Given the description of an element on the screen output the (x, y) to click on. 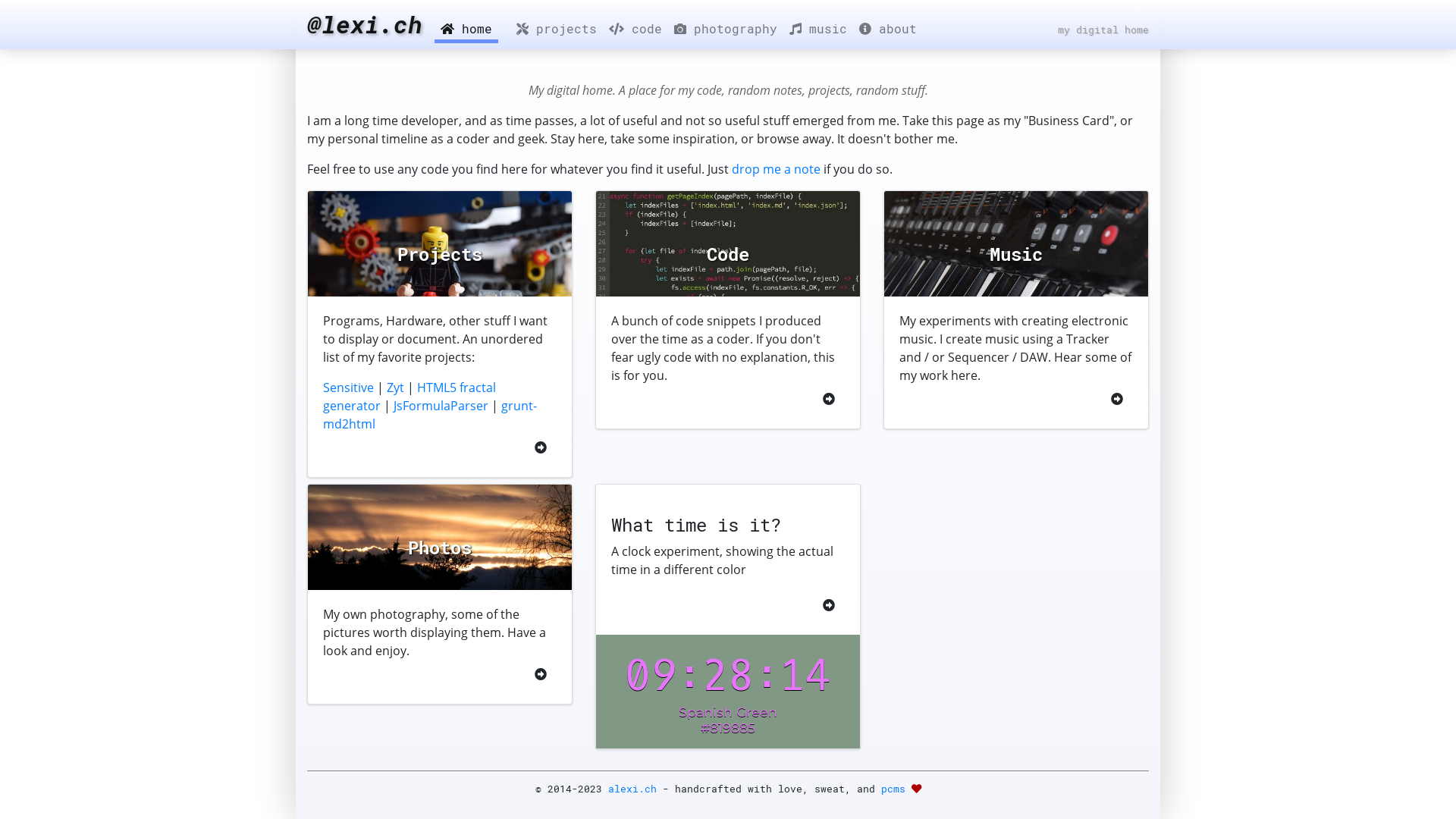
Photos Element type: text (439, 536)
music Element type: text (818, 28)
Music Element type: text (1016, 243)
goto projects Element type: hover (540, 447)
Zyt Element type: text (395, 387)
HTML5 fractal generator Element type: text (409, 396)
photography Element type: text (725, 28)
goto code Element type: hover (828, 398)
drop me a note Element type: text (775, 168)
about Element type: text (887, 28)
JsFormulaParser Element type: text (440, 405)
Code Element type: text (727, 243)
code Element type: text (635, 28)
Sensitive Element type: text (348, 387)
@lexi.ch Element type: text (364, 24)
Projects Element type: text (439, 243)
pcms Element type: text (893, 787)
alexi.ch Element type: text (632, 787)
home Element type: text (466, 28)
grunt-md2html Element type: text (429, 414)
goto photos Element type: hover (540, 673)
goto color clock Element type: hover (828, 604)
goto music Element type: hover (1116, 398)
projects Element type: text (556, 28)
